Given the description of an element on the screen output the (x, y) to click on. 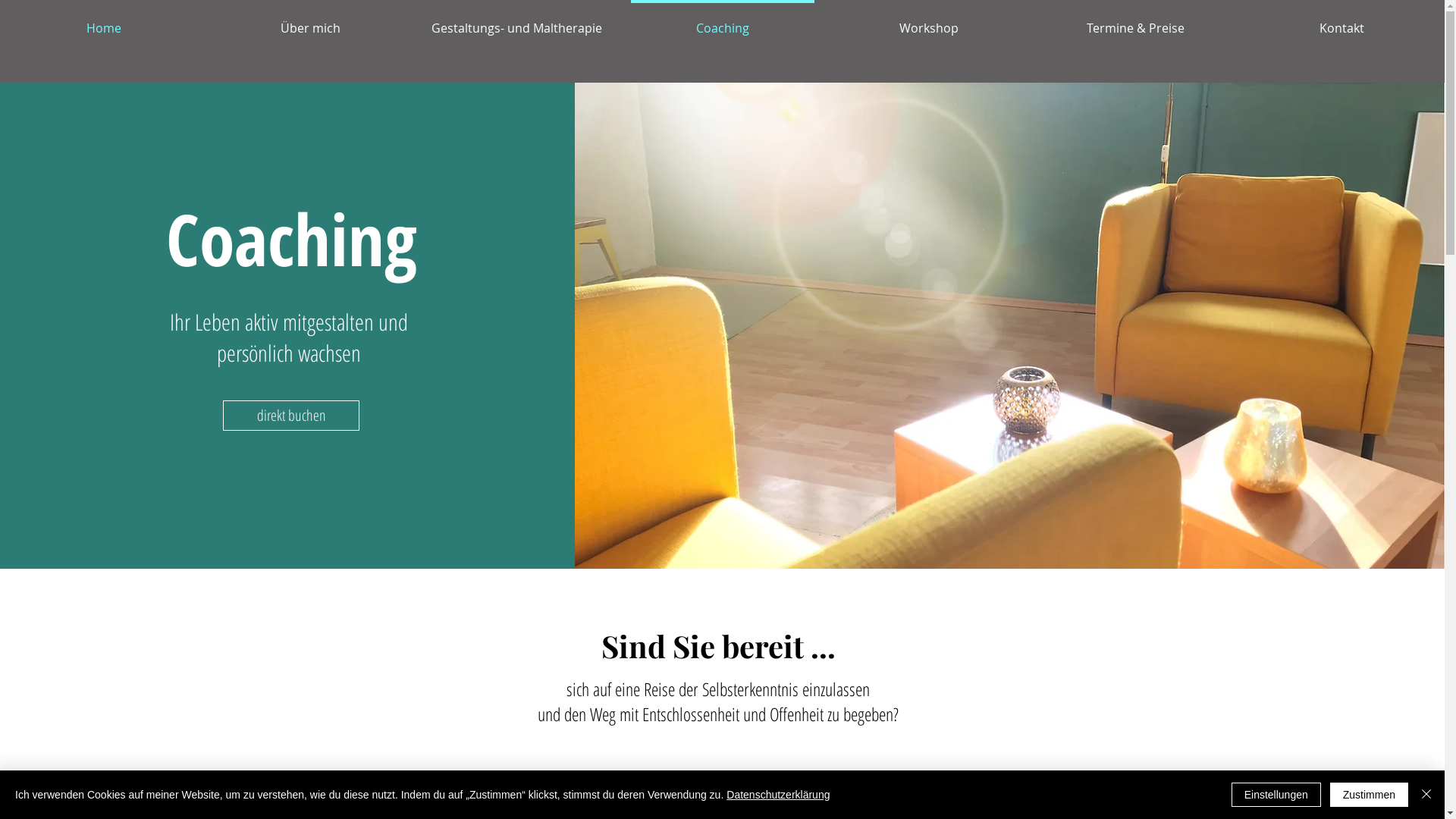
Coaching Element type: text (291, 241)
ise Element type: text (666, 688)
Kontakt Element type: text (1341, 21)
direkt buchen Element type: text (290, 415)
Zustimmen Element type: text (1369, 794)
Einstellungen Element type: text (1276, 794)
Coaching Element type: text (722, 21)
Selbsterkenntnis Element type: text (750, 688)
Termine & Preise Element type: text (1135, 21)
Gestaltungs- und Maltherapie Element type: text (516, 21)
Re Element type: text (650, 688)
Entschlossenheit Element type: text (690, 713)
Home Element type: text (103, 21)
Workshop Element type: text (928, 21)
